Given the description of an element on the screen output the (x, y) to click on. 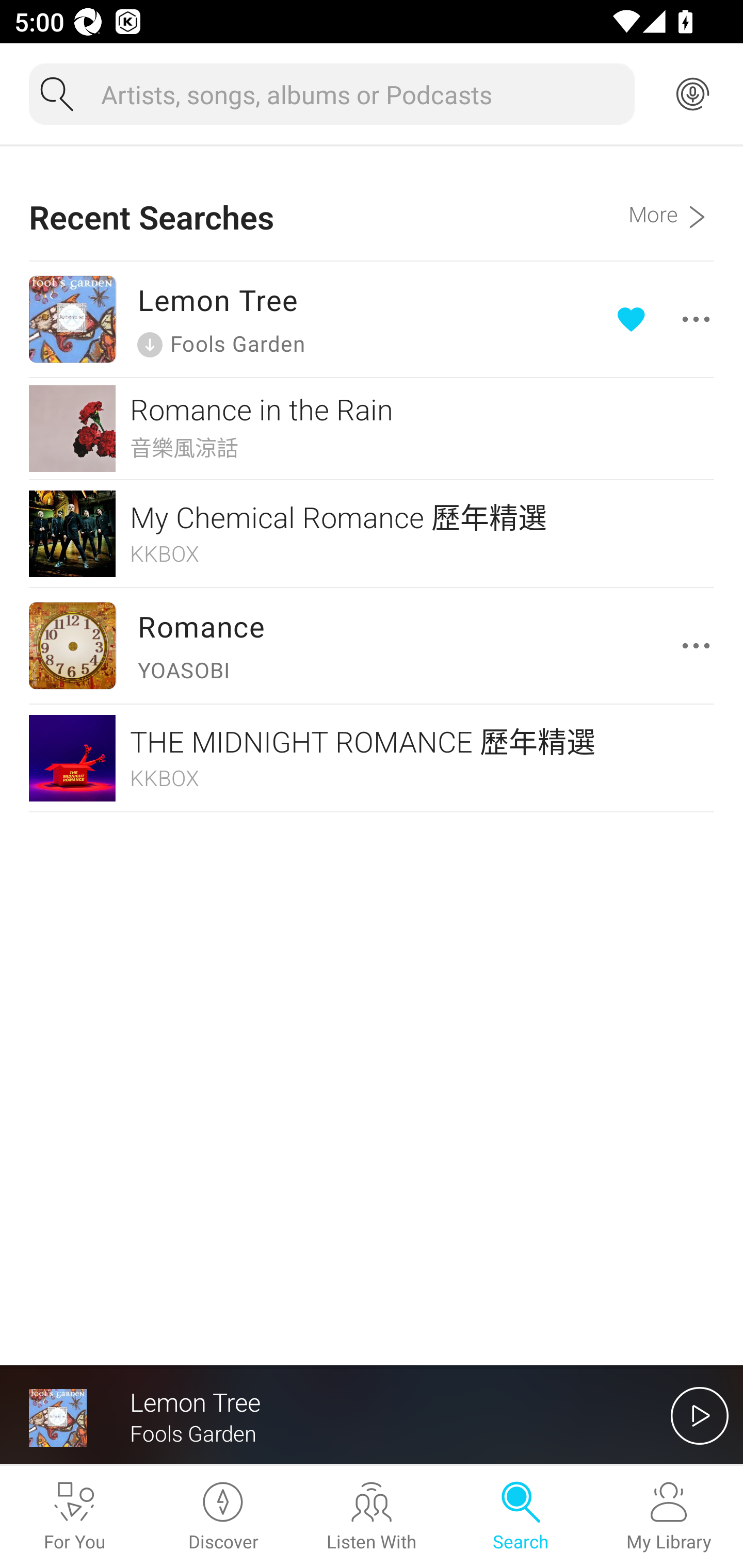
Music recognition (692, 93)
Artists, songs, albums or Podcasts (360, 93)
More Recent Searches More (671, 202)
Lemon Tree 已下載 Fools Garden 更多操作選項 (371, 318)
更多操作選項 (667, 318)
Romance in the Rain 音樂風涼話 (371, 428)
My Chemical Romance 歷年精選 KKBOX (371, 532)
Romance YOASOBI 更多操作選項 (371, 646)
更多操作選項 (699, 645)
THE MIDNIGHT ROMANCE 歷年精選 KKBOX (371, 757)
開始播放 (699, 1415)
For You (74, 1517)
Discover (222, 1517)
Listen With (371, 1517)
Search (519, 1517)
My Library (668, 1517)
